Given the description of an element on the screen output the (x, y) to click on. 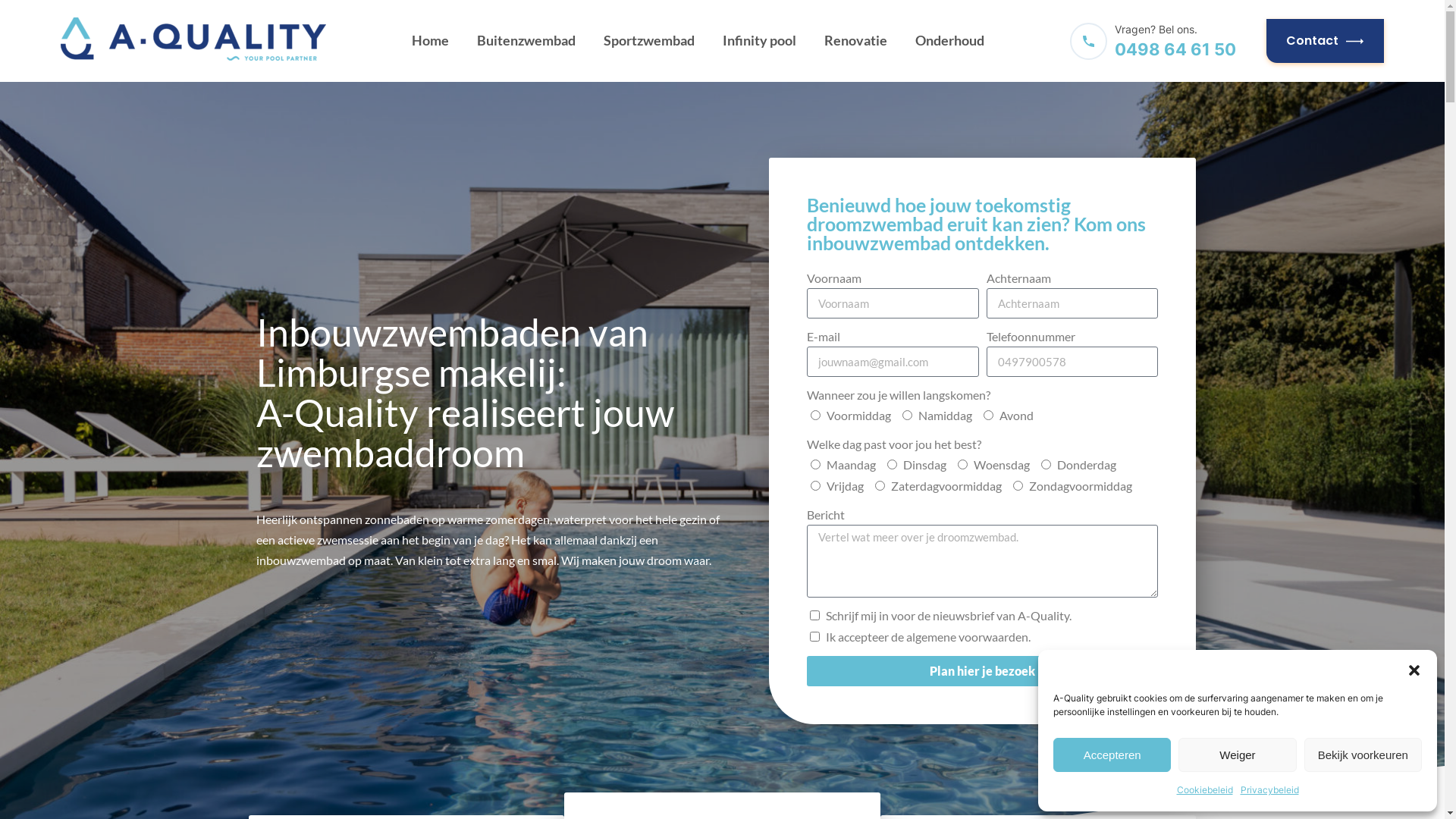
Home Element type: text (429, 40)
Sportzwembad Element type: text (648, 40)
Contact Element type: text (1324, 40)
Accepteren Element type: text (1111, 754)
Weiger Element type: text (1236, 754)
Bekijk voorkeuren Element type: text (1362, 754)
Onderhoud Element type: text (949, 40)
Buitenzwembad Element type: text (526, 40)
Plan hier je bezoek Element type: text (982, 670)
Infinity pool Element type: text (759, 40)
Cookiebeleid Element type: text (1204, 789)
Renovatie Element type: text (855, 40)
Vragen? Bel ons.
0498 64 61 50 Element type: text (1154, 40)
Privacybeleid Element type: text (1269, 789)
